Given the description of an element on the screen output the (x, y) to click on. 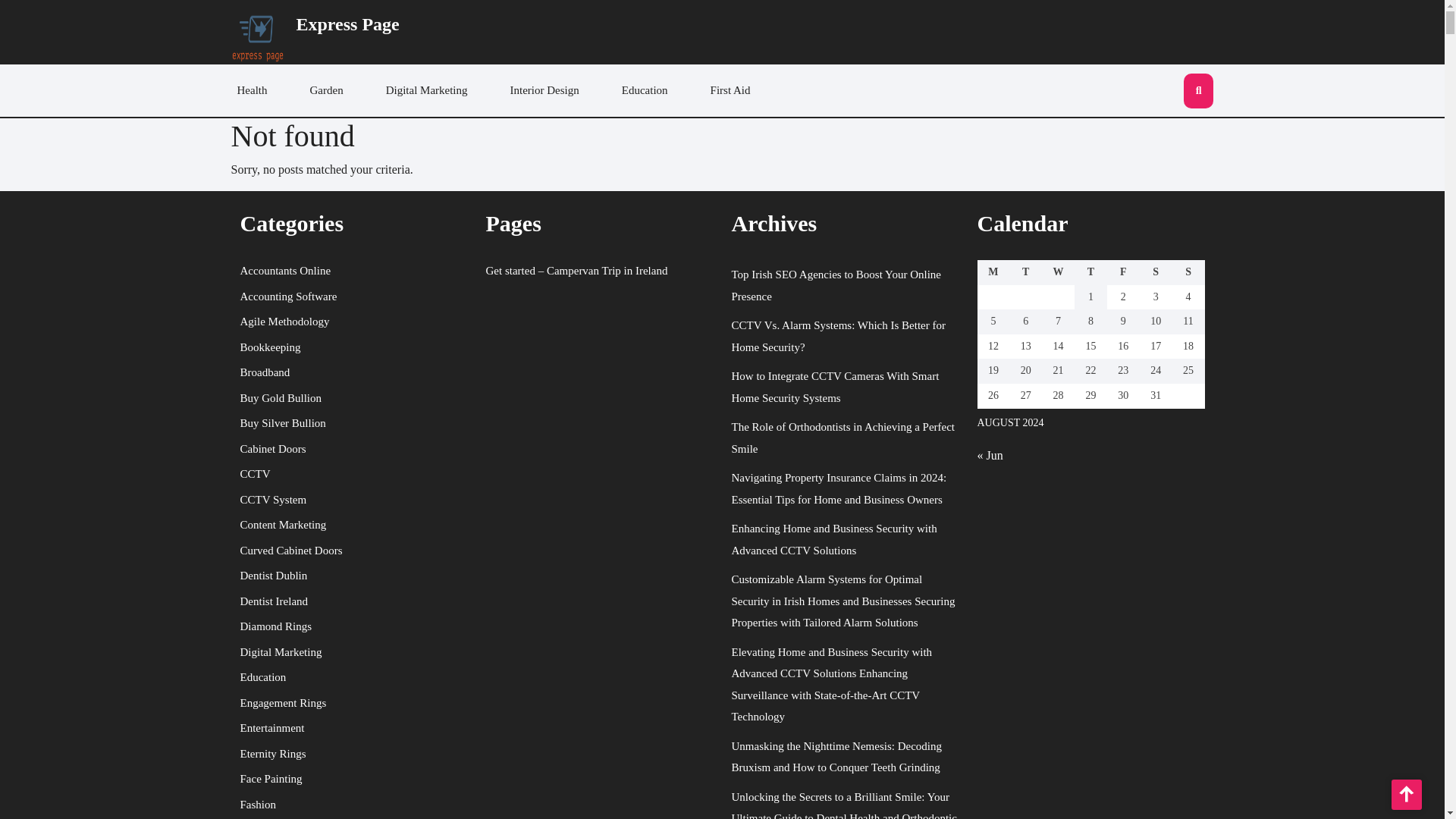
CCTV (254, 473)
Dentist Ireland (273, 600)
Interior Design (544, 90)
Accountants Online (285, 270)
Agile Methodology (284, 321)
Fashion (258, 803)
Express Page (346, 24)
Wednesday (1058, 272)
Broadband (264, 372)
First Aid (730, 90)
Express Page (346, 24)
Engagement Rings (283, 702)
Bookkeeping (269, 346)
Face Painting (270, 778)
Tuesday (1025, 272)
